Given the description of an element on the screen output the (x, y) to click on. 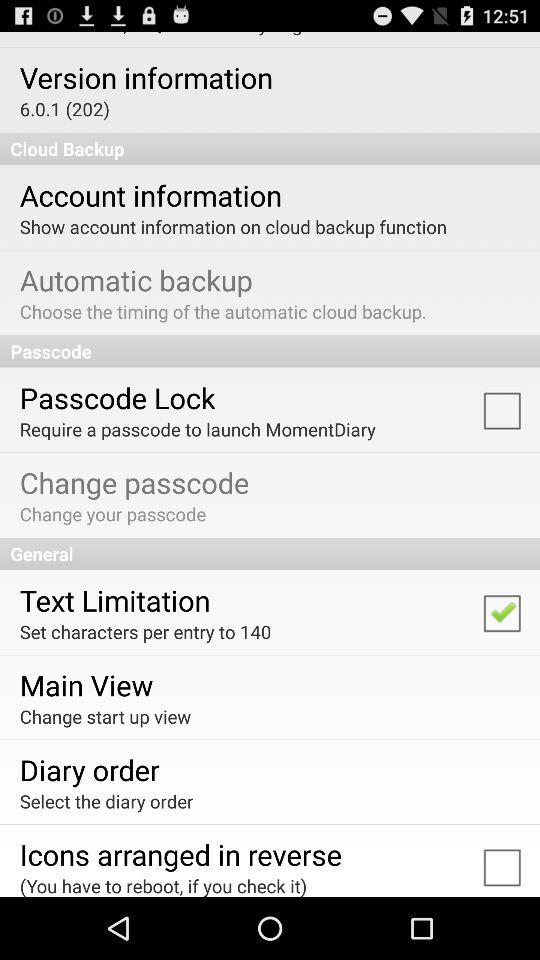
jump to the require a passcode (197, 428)
